Given the description of an element on the screen output the (x, y) to click on. 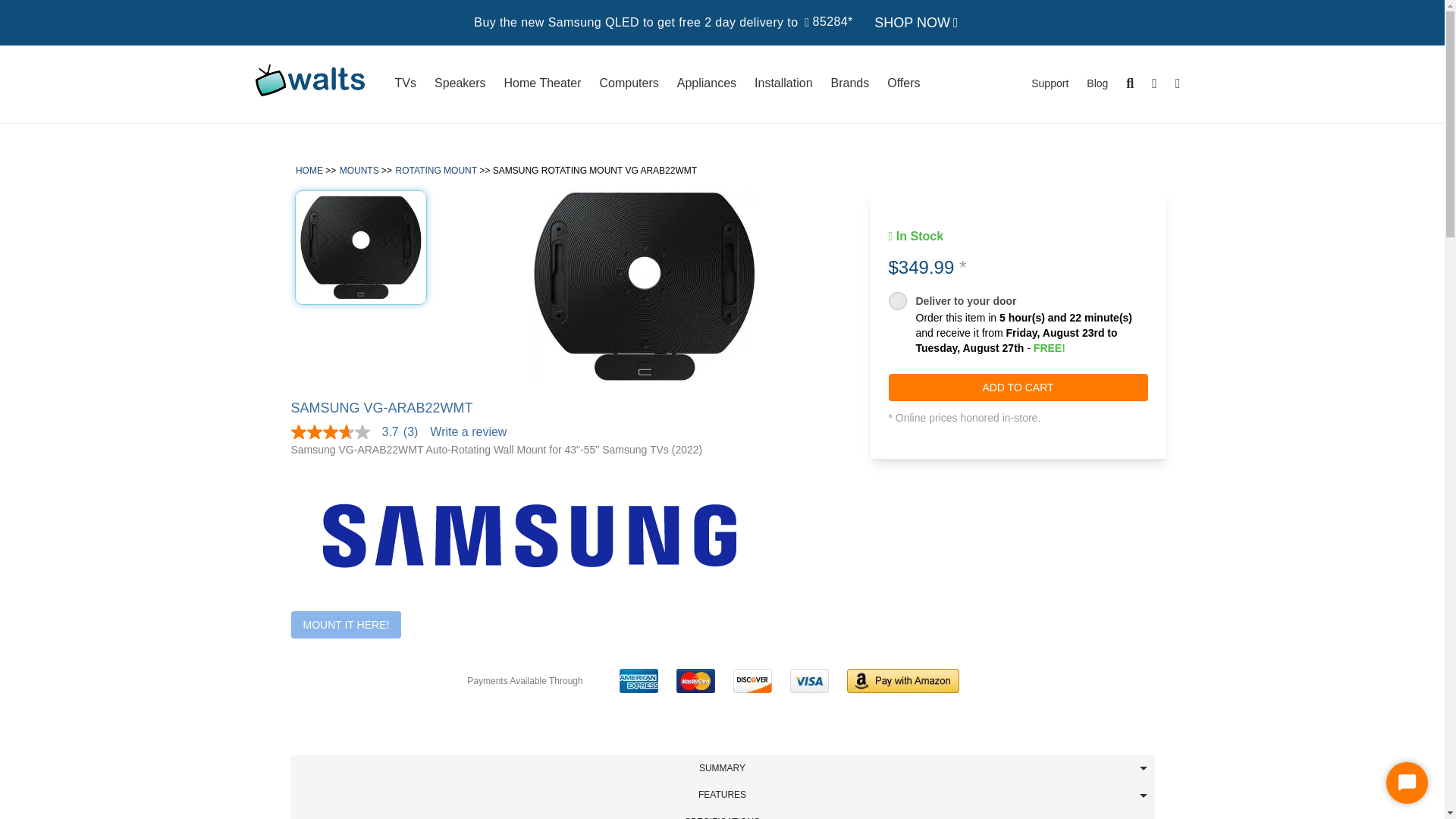
Brands (850, 84)
Speakers (460, 84)
Home Theater (543, 84)
Offers (902, 83)
Blog (1096, 83)
Appliances (706, 84)
SHOP NOW (916, 22)
Support (1049, 83)
Installation (783, 84)
TVs (405, 84)
